Given the description of an element on the screen output the (x, y) to click on. 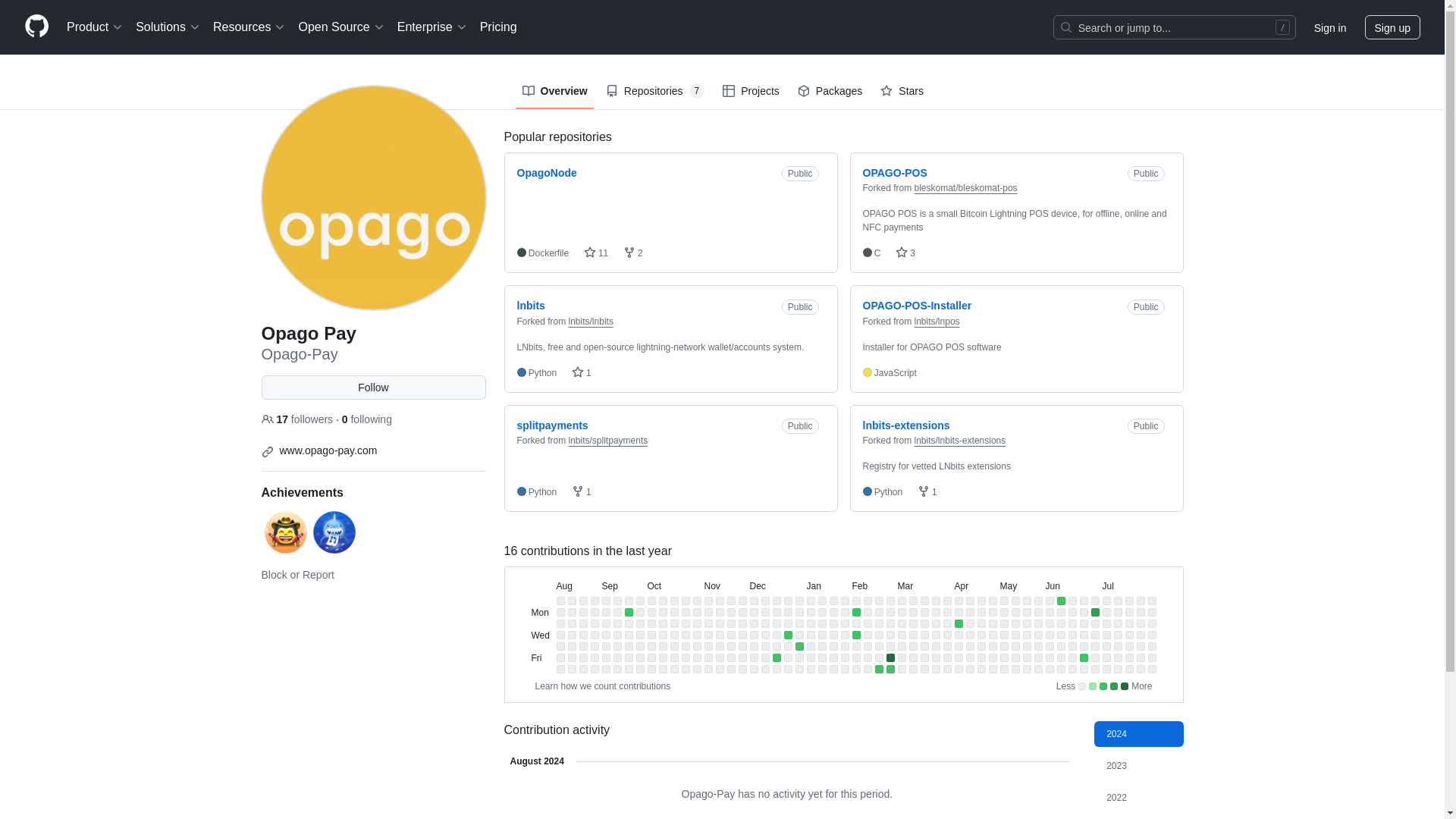
Solutions (167, 27)
Open Source (341, 27)
Resources (249, 27)
Product (95, 27)
7 (696, 90)
